Given the description of an element on the screen output the (x, y) to click on. 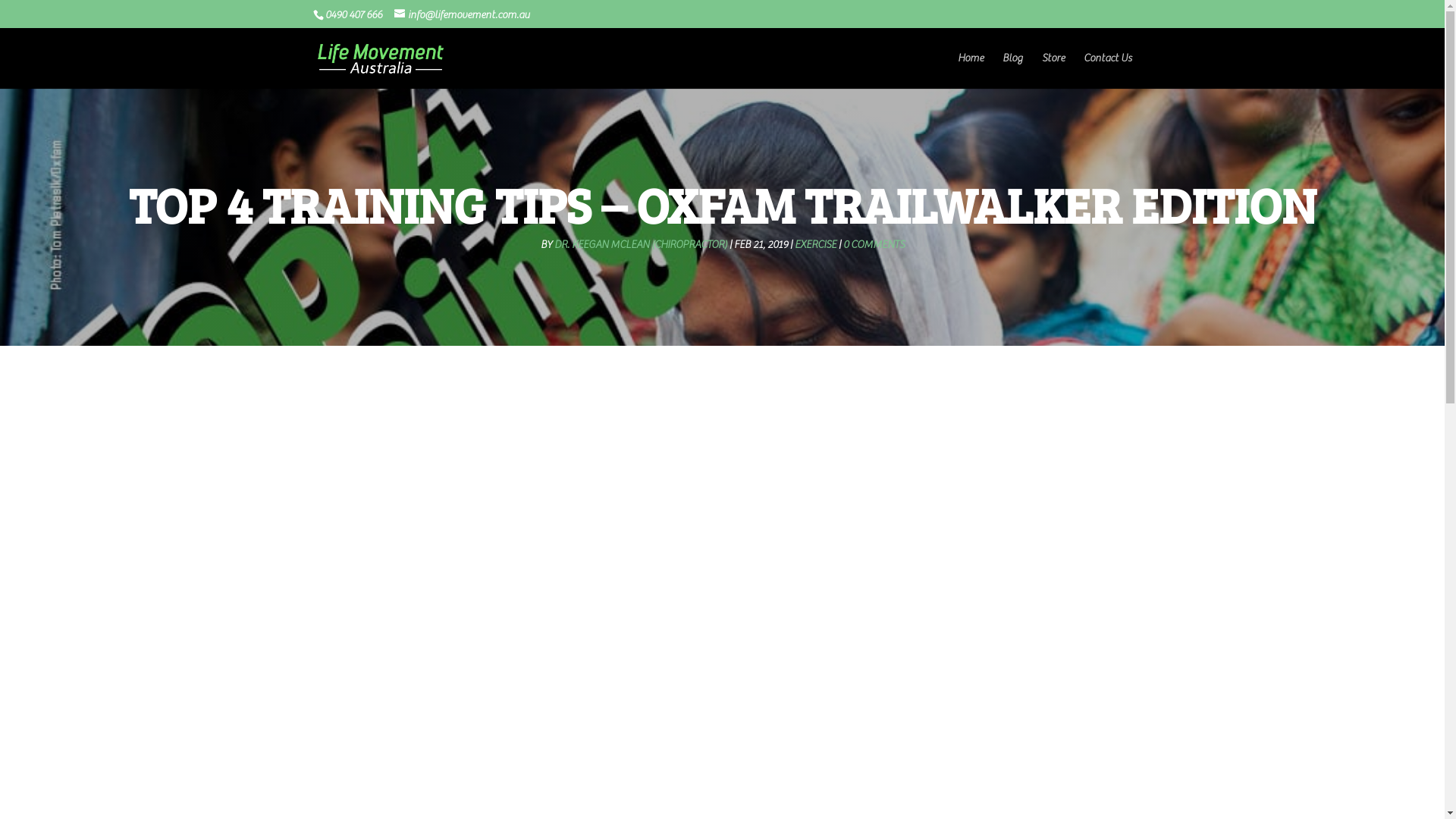
Home Element type: text (969, 70)
EXERCISE Element type: text (815, 244)
DR. KEEGAN MCLEAN (CHIROPRACTOR) Element type: text (639, 244)
Store Element type: text (1052, 70)
info@lifemovement.com.au Element type: text (462, 15)
0 COMMENTS Element type: text (873, 244)
Blog Element type: text (1012, 70)
0490 407 666 Element type: text (351, 15)
Contact Us Element type: text (1106, 70)
